Given the description of an element on the screen output the (x, y) to click on. 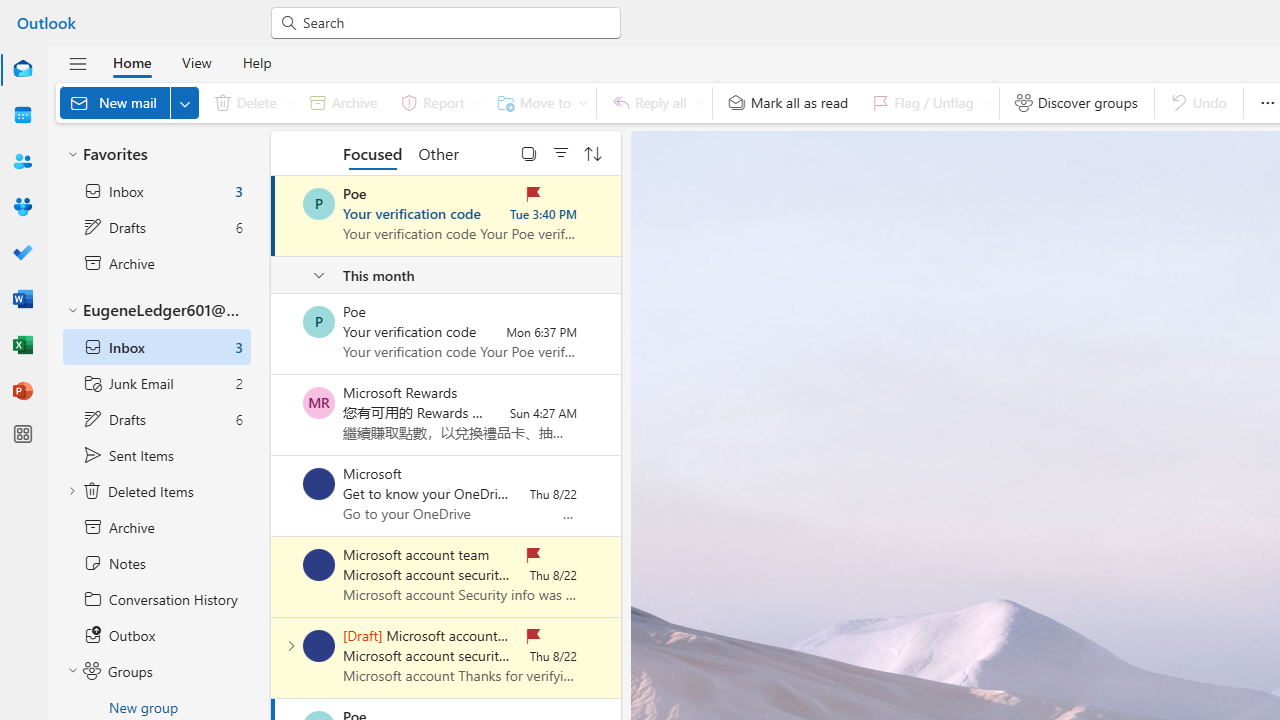
Mark as unread (273, 657)
Poe (319, 321)
System (10, 11)
People (22, 161)
Expand to see more respond options (699, 102)
PowerPoint (22, 390)
New mail (129, 102)
Mail (22, 69)
People (22, 161)
Delete (250, 102)
Help (256, 61)
Excel (22, 344)
